Given the description of an element on the screen output the (x, y) to click on. 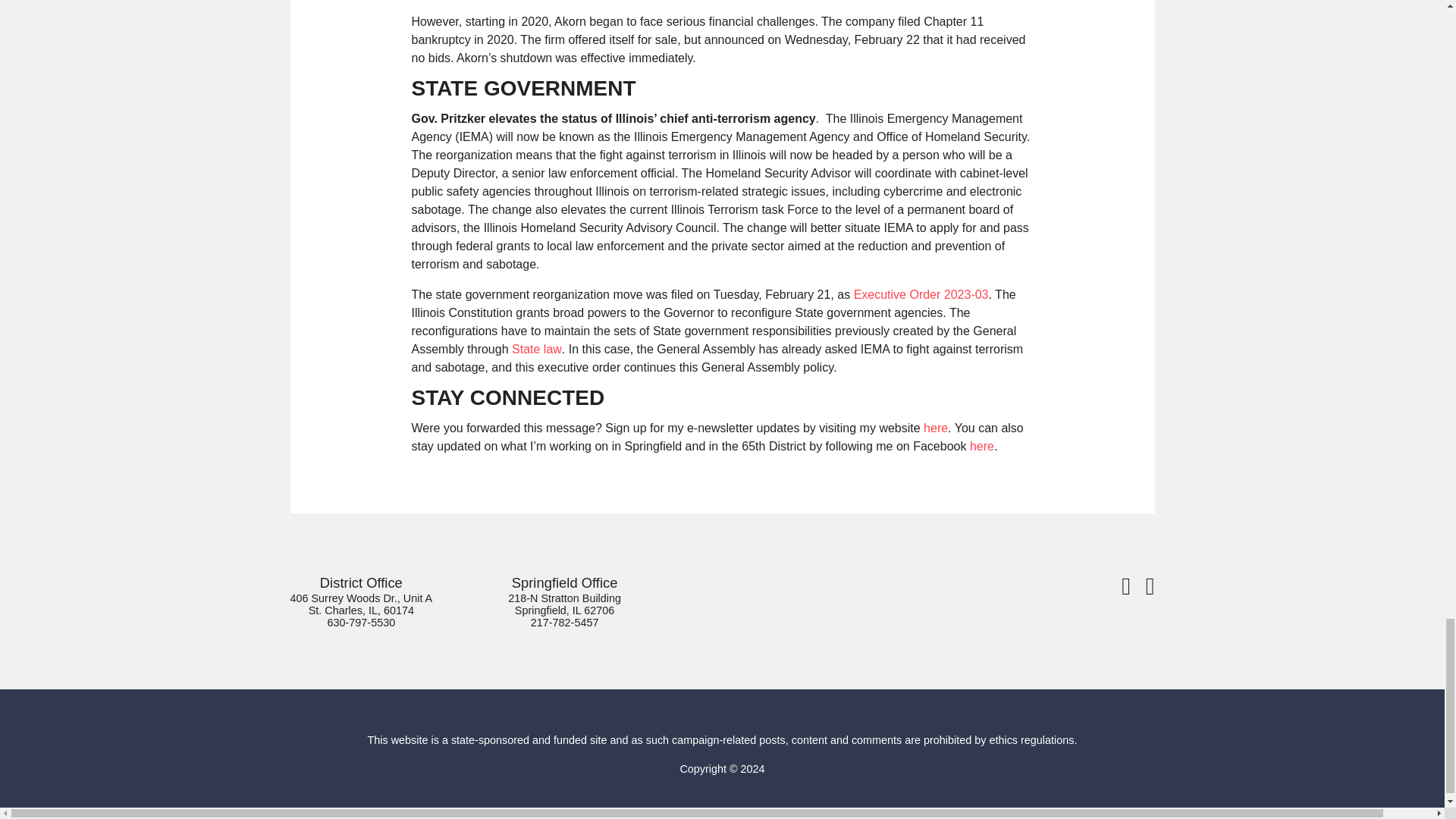
State law (537, 349)
Executive Order 2023-03 (920, 294)
here (981, 445)
here (935, 427)
